Given the description of an element on the screen output the (x, y) to click on. 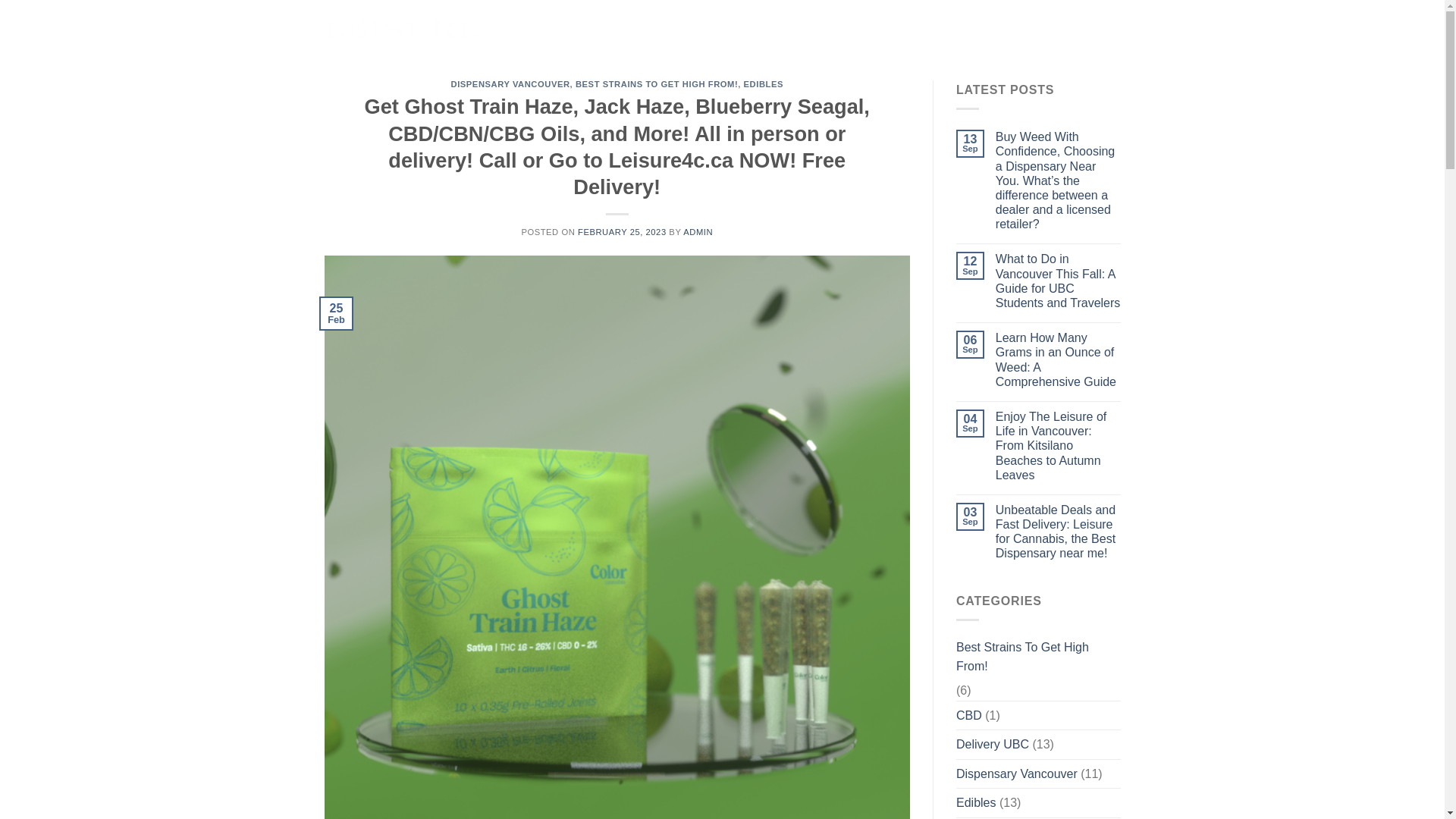
BEST STRAINS TO GET HIGH FROM! (656, 83)
EDIBLES (763, 83)
DISPENSARY VANCOUVER (510, 83)
BLOG (942, 28)
CONTACT (871, 28)
CONNECT WITH US (1052, 28)
Leisure For Cannabis - Vancouver's Best Cannabis Store (400, 28)
SHOP (730, 28)
ABOUT (794, 28)
FEBRUARY 25, 2023 (622, 231)
ADMIN (697, 231)
